Given the description of an element on the screen output the (x, y) to click on. 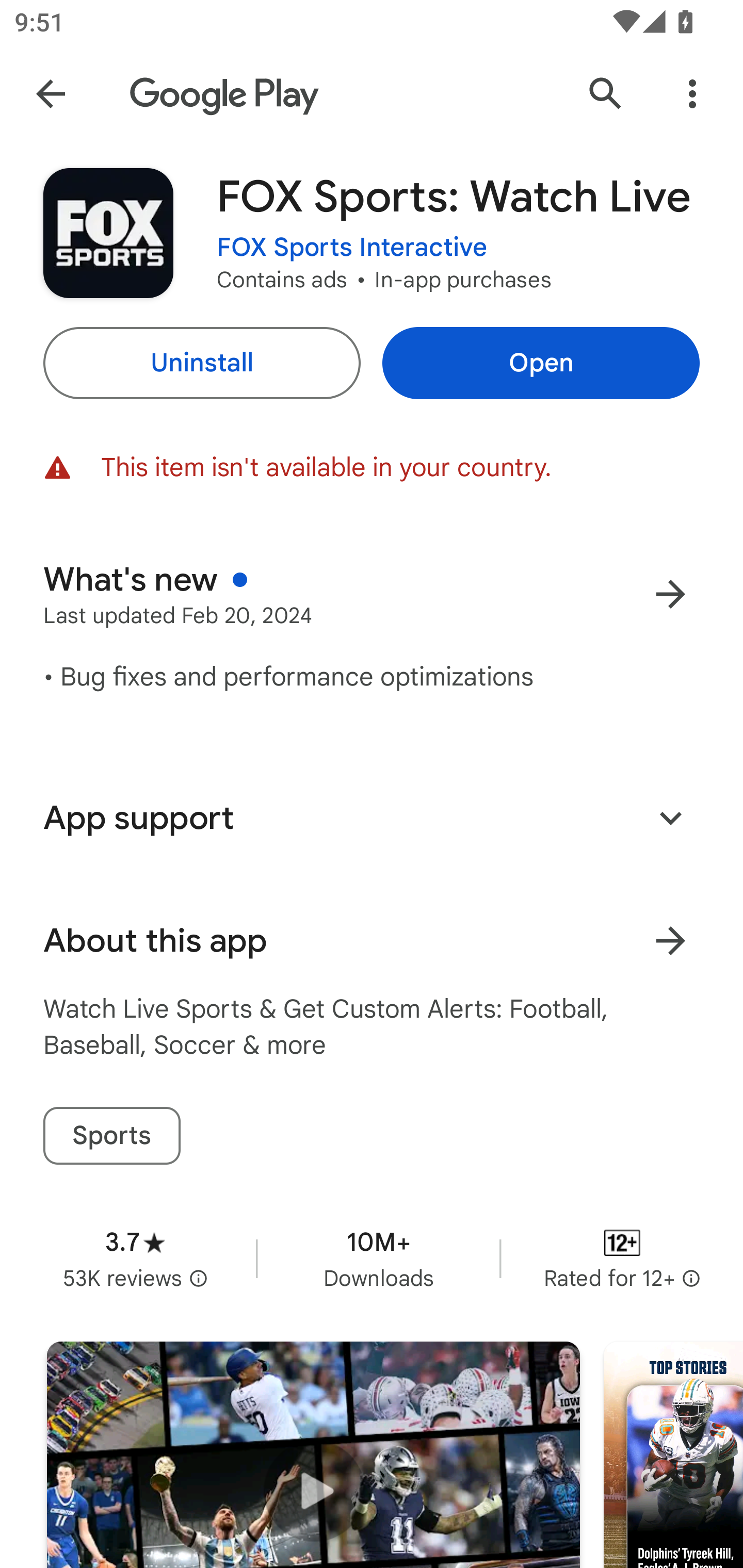
Navigate up (50, 93)
Search Google Play (605, 93)
More Options (692, 93)
FOX Sports Interactive (351, 247)
Uninstall (201, 362)
Open (540, 362)
More results for What's new (670, 594)
App support Expand (371, 817)
Expand (670, 817)
About this app Learn more About this app (371, 940)
Learn more About this app (670, 940)
Sports tag (111, 1135)
Average rating 3.7 stars in 53 thousand reviews (135, 1258)
Content rating Rated for 12+ (622, 1258)
Play trailer for "FOX Sports: Watch Live" (313, 1455)
